Given the description of an element on the screen output the (x, y) to click on. 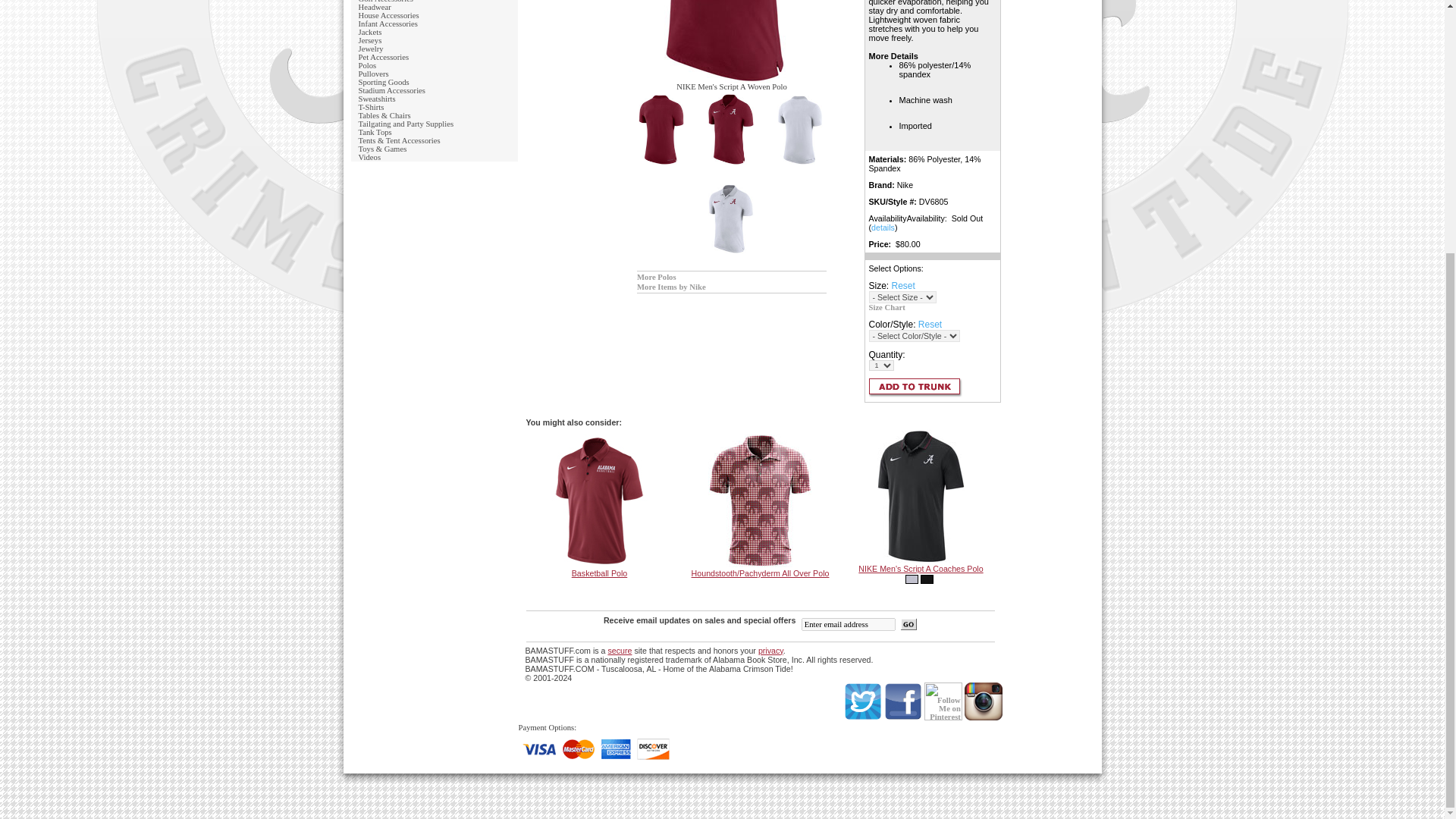
Go (909, 623)
Headwear (374, 7)
Golf Accessories (385, 1)
Enter email address (848, 624)
